Given the description of an element on the screen output the (x, y) to click on. 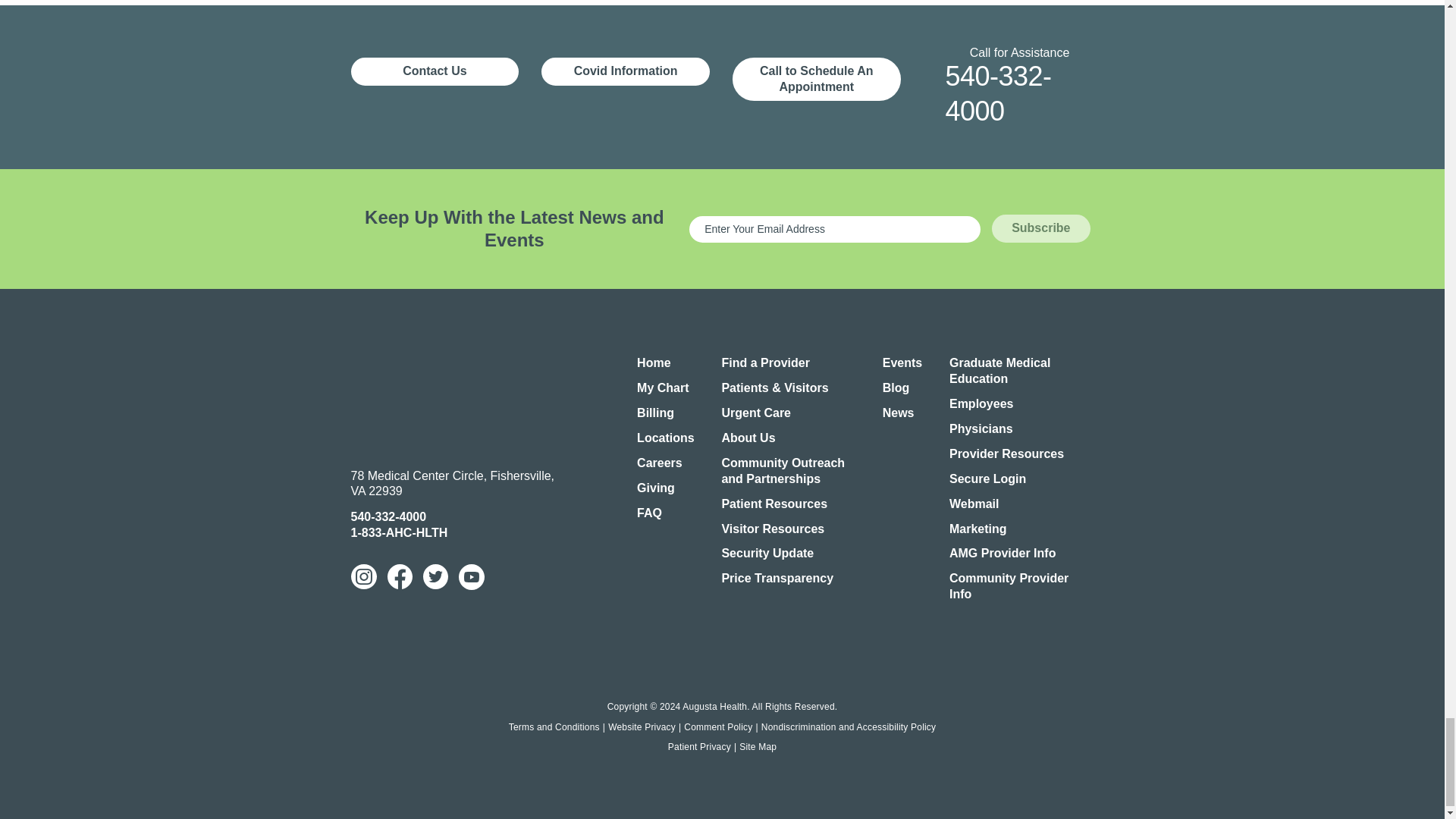
Subscribe (1040, 228)
